Given the description of an element on the screen output the (x, y) to click on. 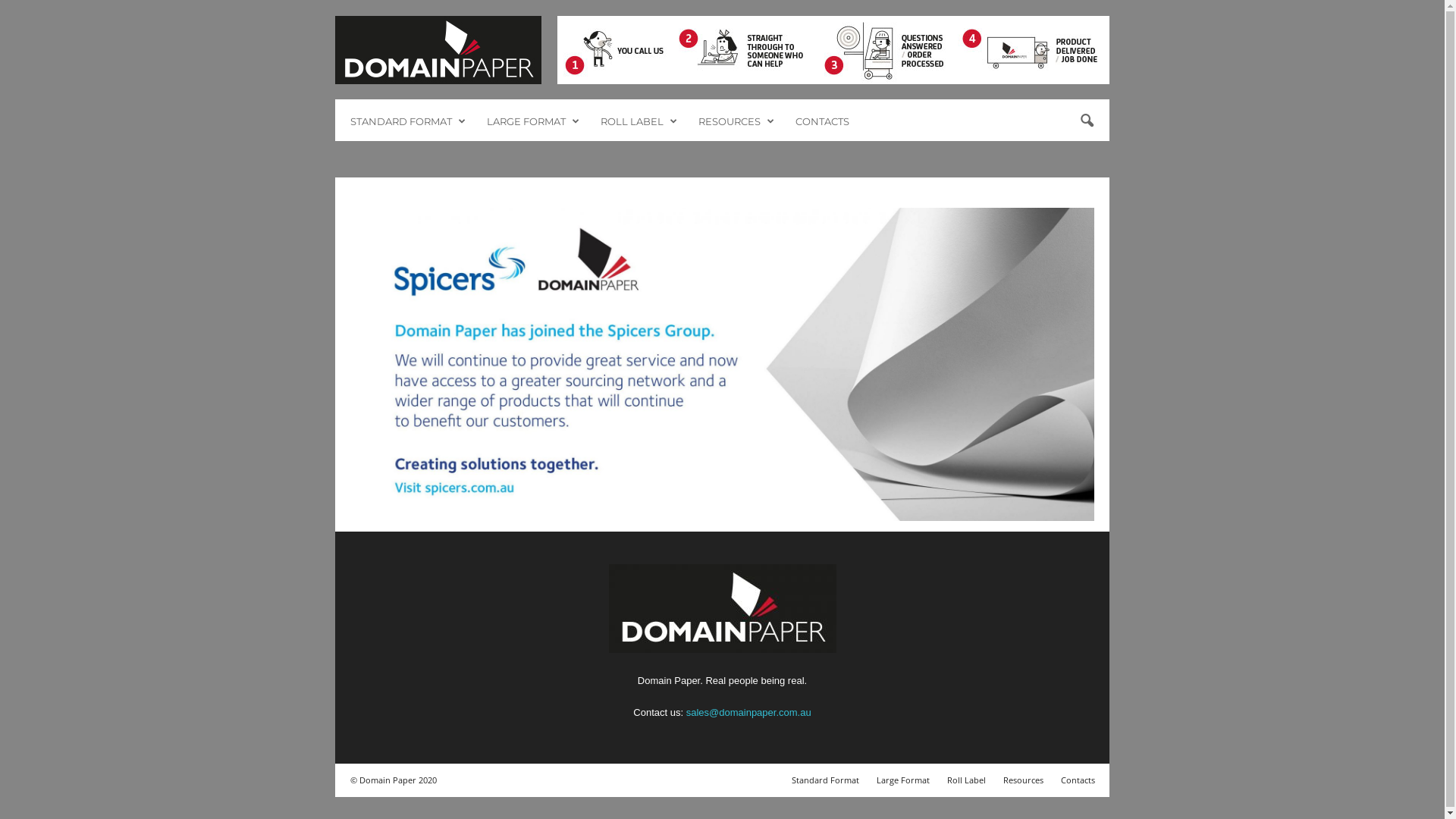
CONTACTS Element type: text (822, 121)
STANDARD FORMAT Element type: text (406, 121)
Domain Paper Element type: text (438, 49)
Roll Label Element type: text (966, 779)
Standard Format Element type: text (825, 779)
RESOURCES Element type: text (735, 121)
Large Format Element type: text (903, 779)
Contacts Element type: text (1074, 779)
Resources Element type: text (1023, 779)
sales@domainpaper.com.au Element type: text (748, 712)
ROLL LABEL Element type: text (638, 121)
LARGE FORMAT Element type: text (532, 121)
